Given the description of an element on the screen output the (x, y) to click on. 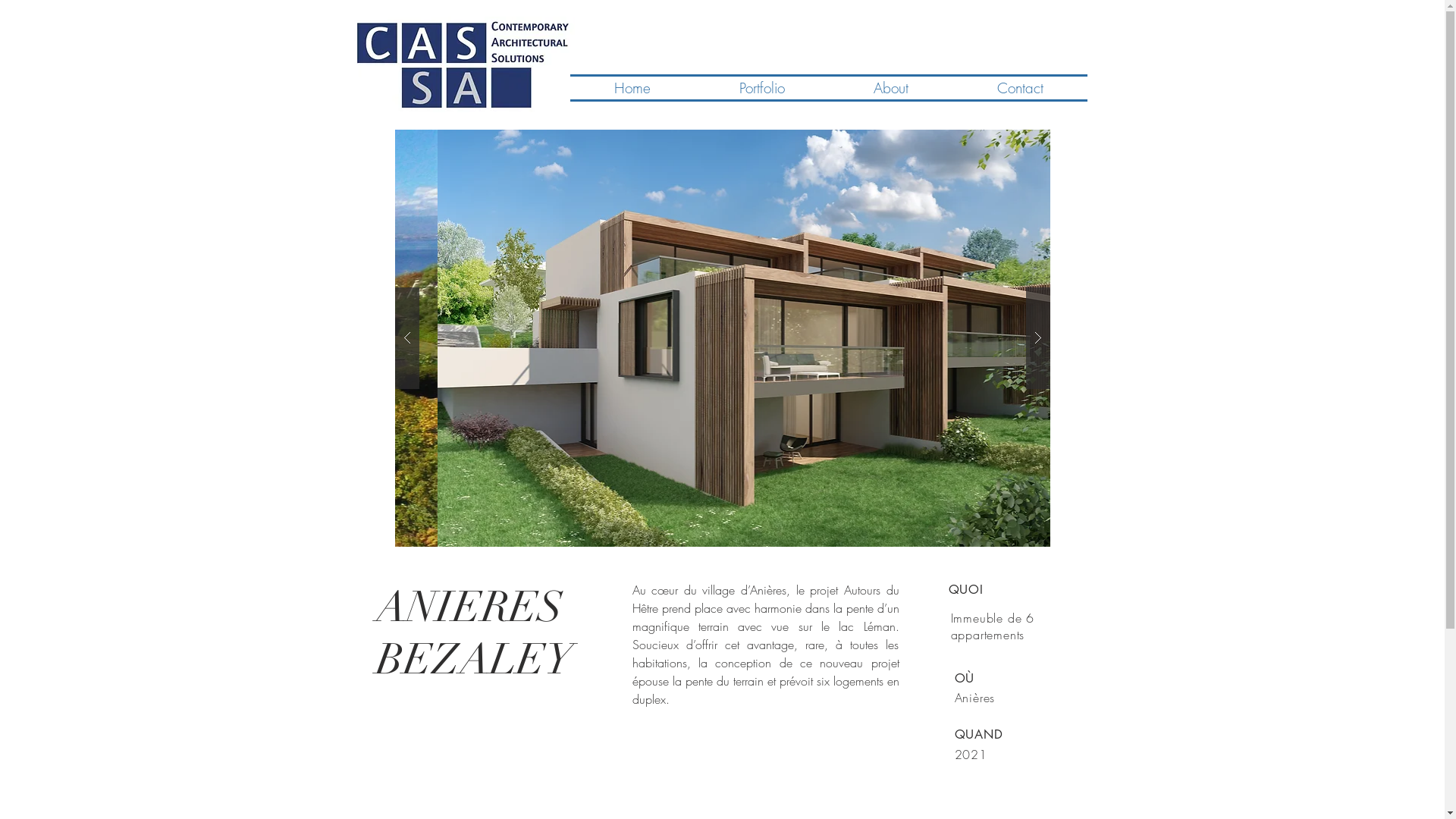
About Element type: text (891, 87)
Portfolio Element type: text (761, 87)
Contact Element type: text (1019, 87)
Home Element type: text (632, 87)
